Given the description of an element on the screen output the (x, y) to click on. 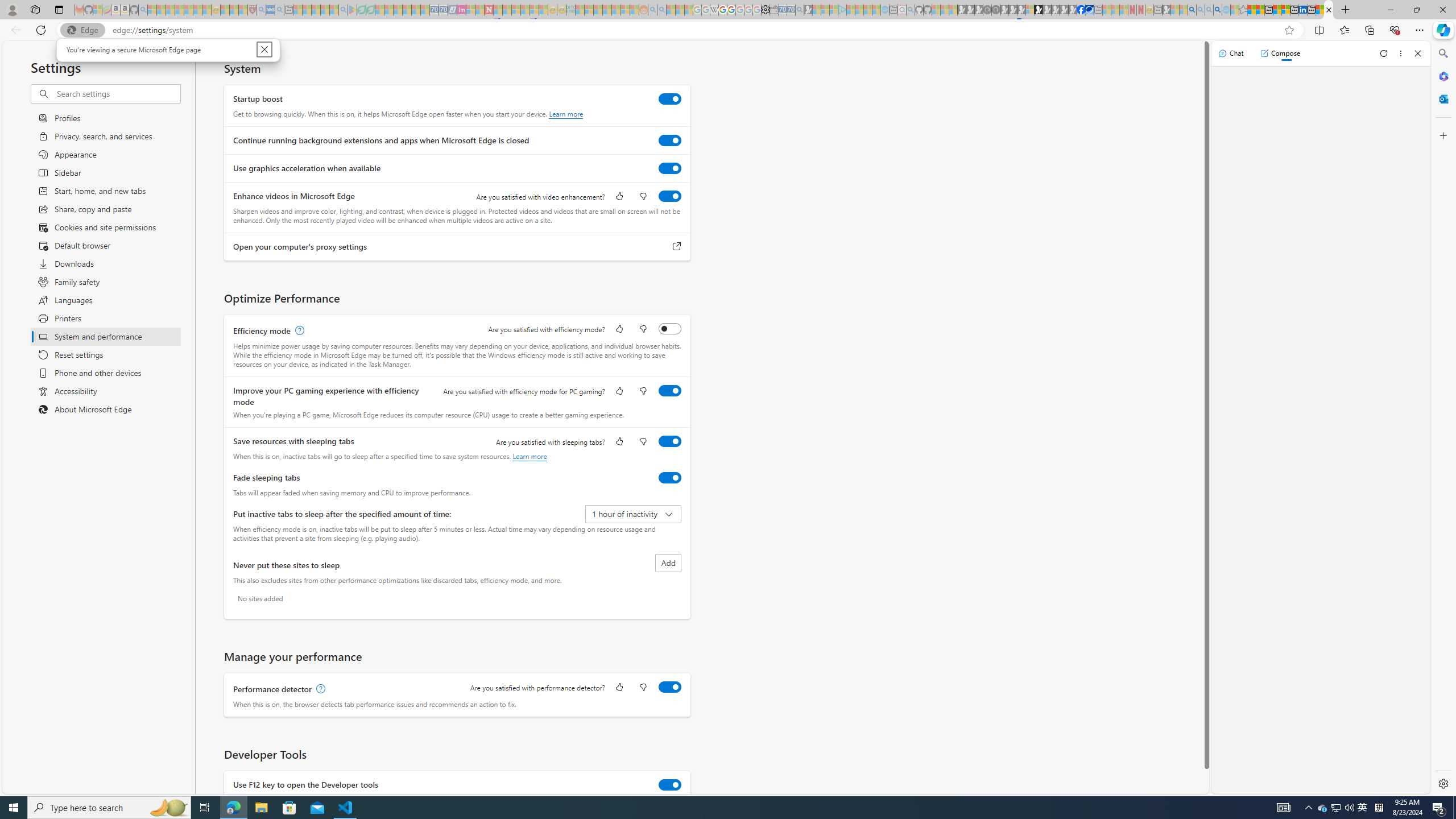
Target page - Wikipedia - Sleeping (713, 9)
Task View (204, 807)
Show desktop (1454, 807)
File Explorer (261, 807)
